Given the description of an element on the screen output the (x, y) to click on. 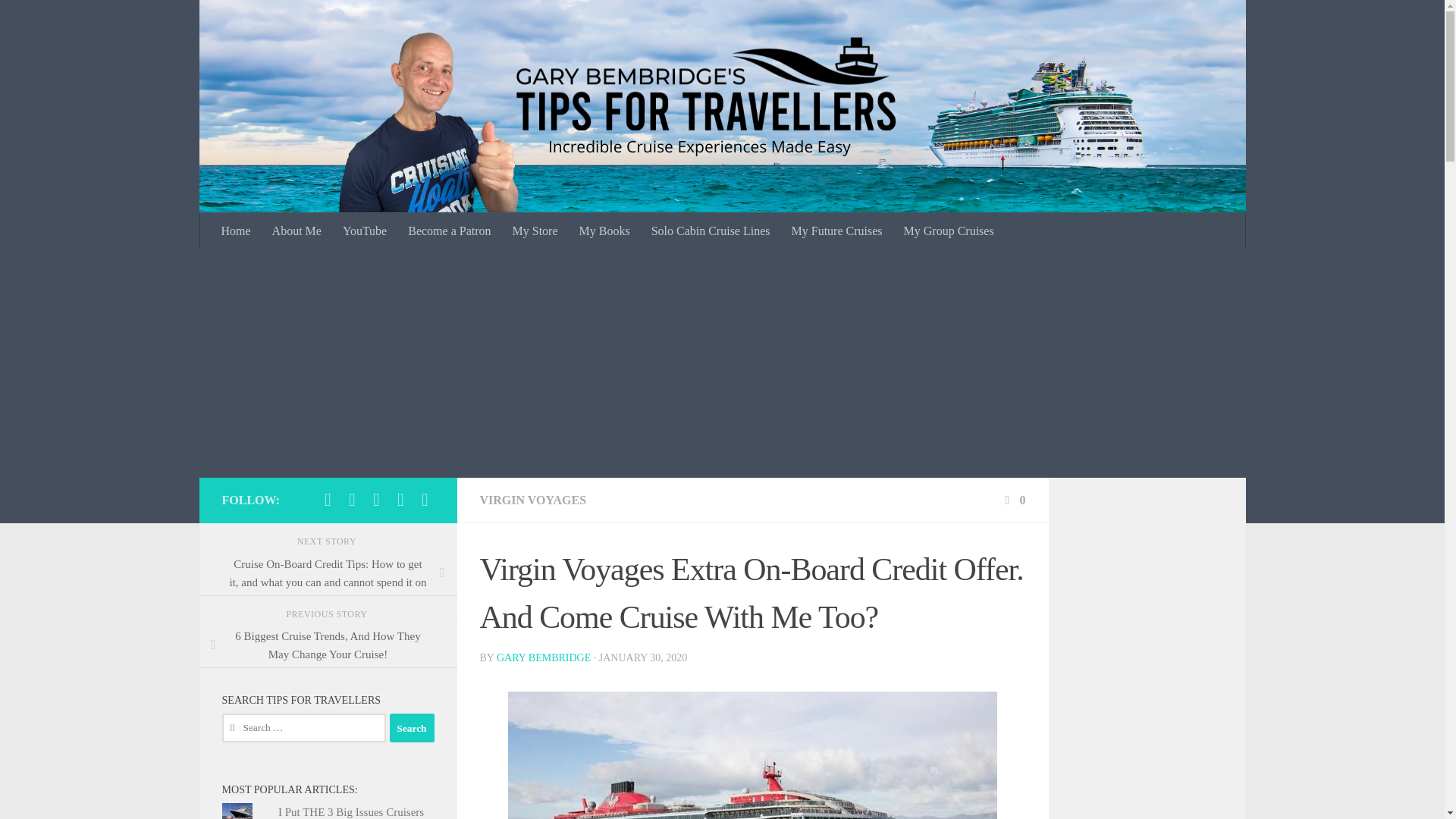
Posts by Gary Bembridge (543, 657)
VIRGIN VOYAGES (532, 499)
About Me (296, 231)
Follow us on Instagram (351, 499)
Skip to content (59, 20)
My Future Cruises (836, 231)
My Books (604, 231)
Search (411, 727)
Solo Cabin Cruise Lines (710, 231)
GARY BEMBRIDGE (543, 657)
